Given the description of an element on the screen output the (x, y) to click on. 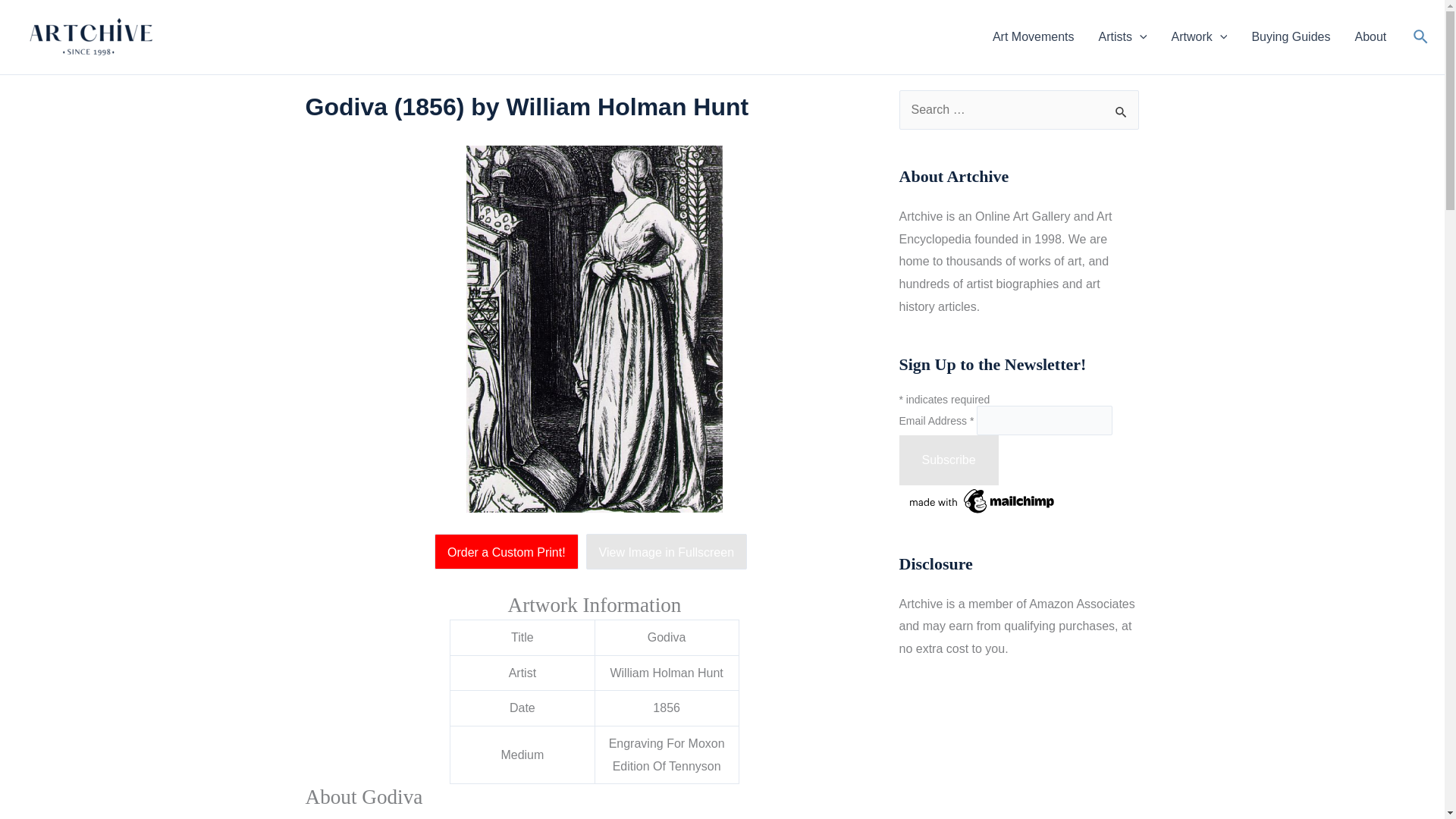
About (1369, 36)
Order a Custom Print! (509, 552)
Artwork (1199, 36)
Mailchimp - email marketing made easy and fun (982, 500)
Artists (1122, 36)
Subscribe (948, 459)
Buying Guides (1290, 36)
Art Movements (1032, 36)
